Given the description of an element on the screen output the (x, y) to click on. 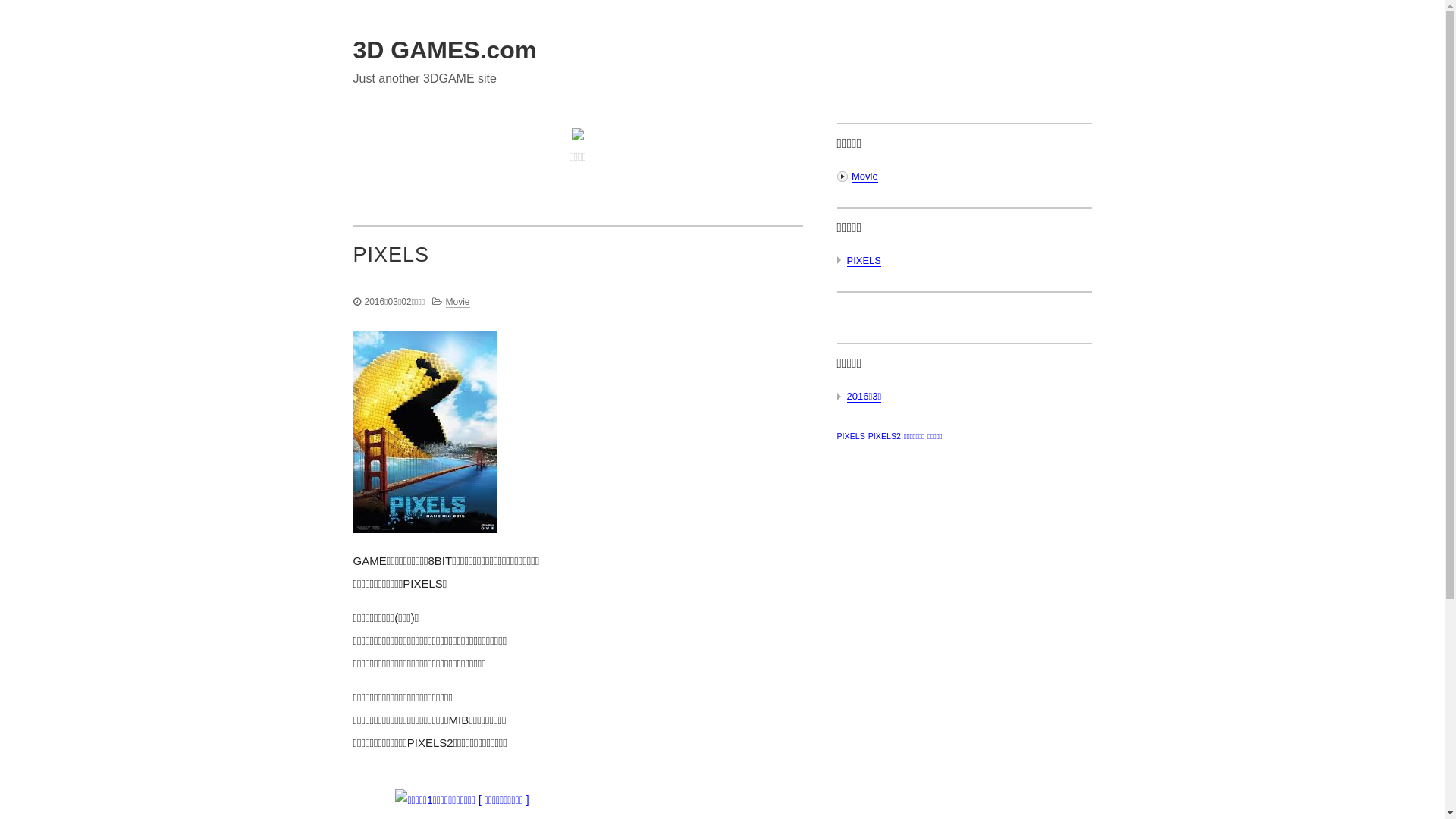
PIXELS2 Element type: text (884, 435)
PIXELS Element type: text (578, 247)
Movie Element type: text (457, 301)
PIXELS Element type: text (863, 260)
3D GAMES.com Element type: text (444, 49)
PIXELS Element type: text (851, 435)
Movie Element type: text (864, 176)
